Given the description of an element on the screen output the (x, y) to click on. 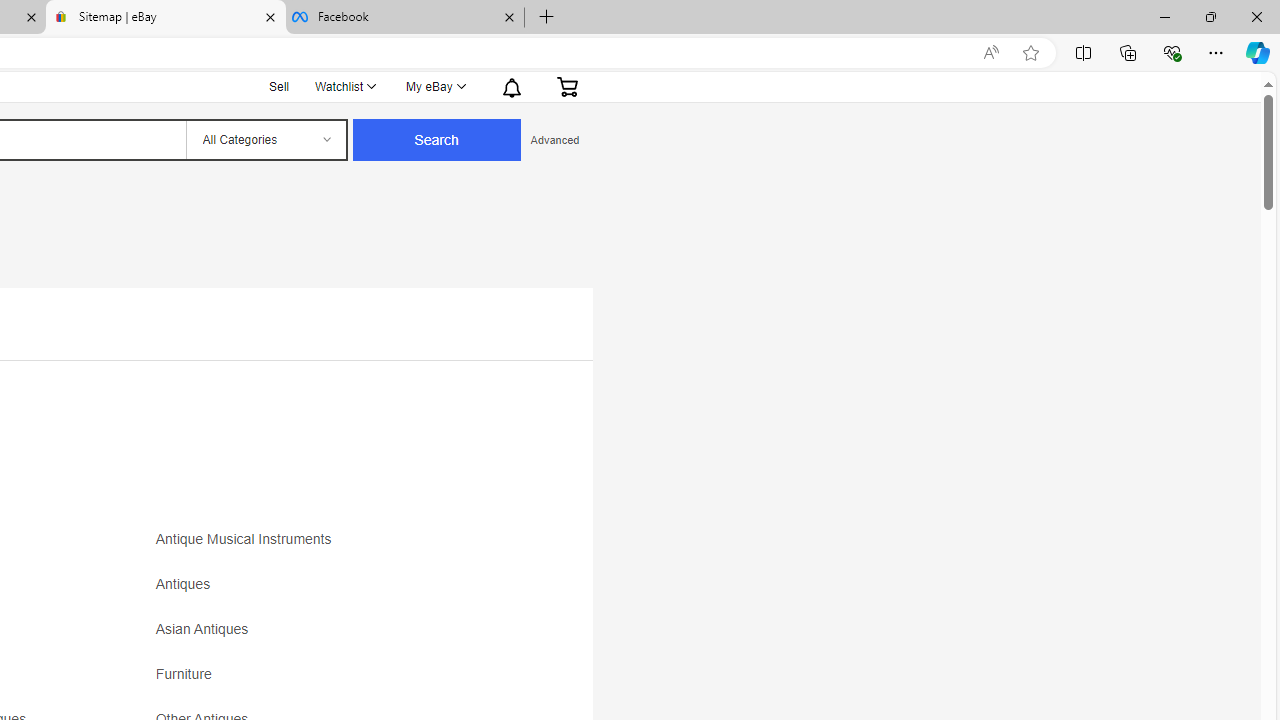
Antiques (332, 591)
Sell (279, 84)
Watchlist (344, 86)
Your shopping cart (567, 86)
